Given the description of an element on the screen output the (x, y) to click on. 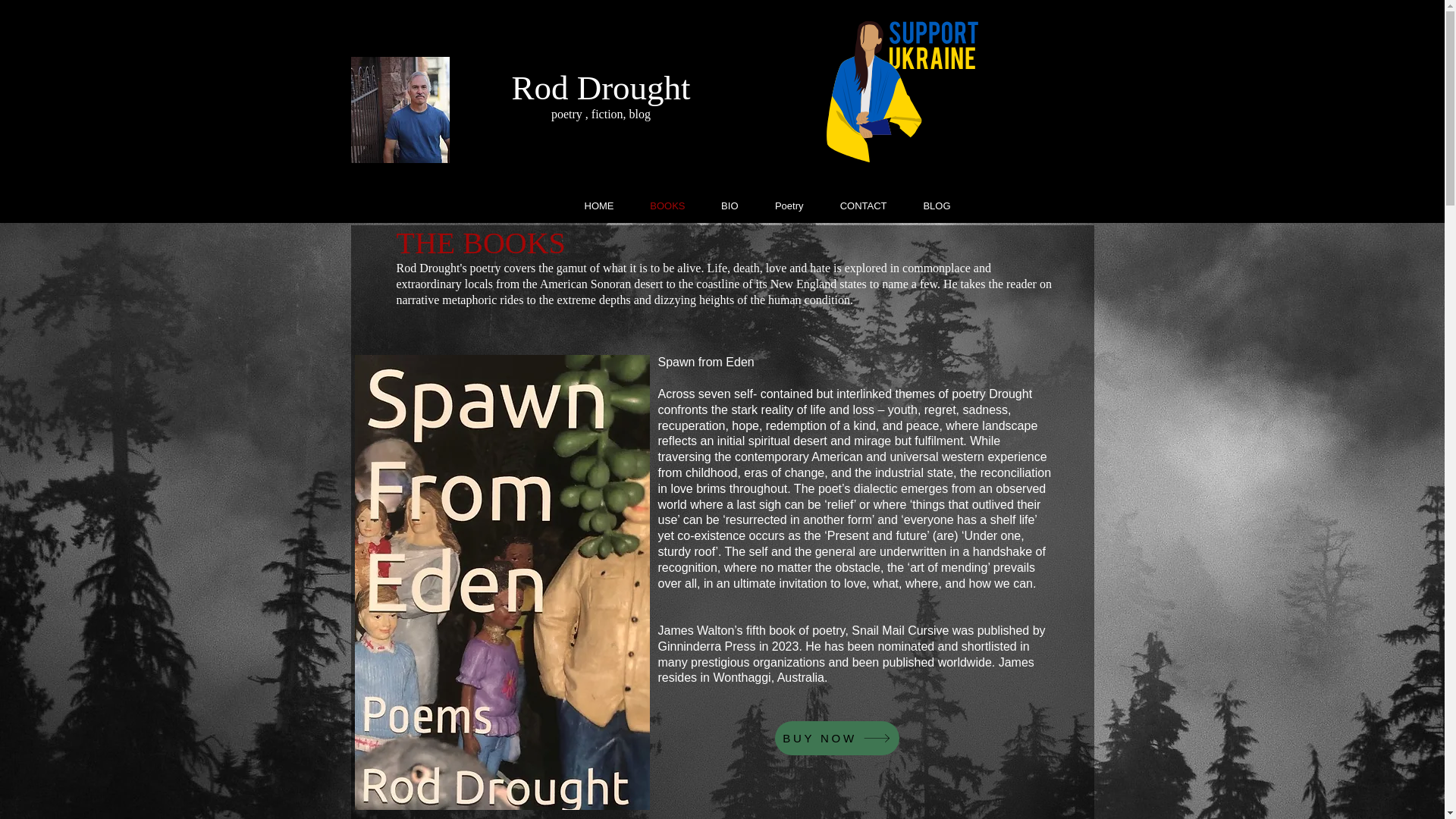
BUY NOW (836, 738)
BOOKS (657, 205)
poetry , fiction, blog (600, 113)
CONTACT (852, 205)
Poetry (777, 205)
HOME (587, 205)
BIO (719, 205)
BLOG (926, 205)
